Given the description of an element on the screen output the (x, y) to click on. 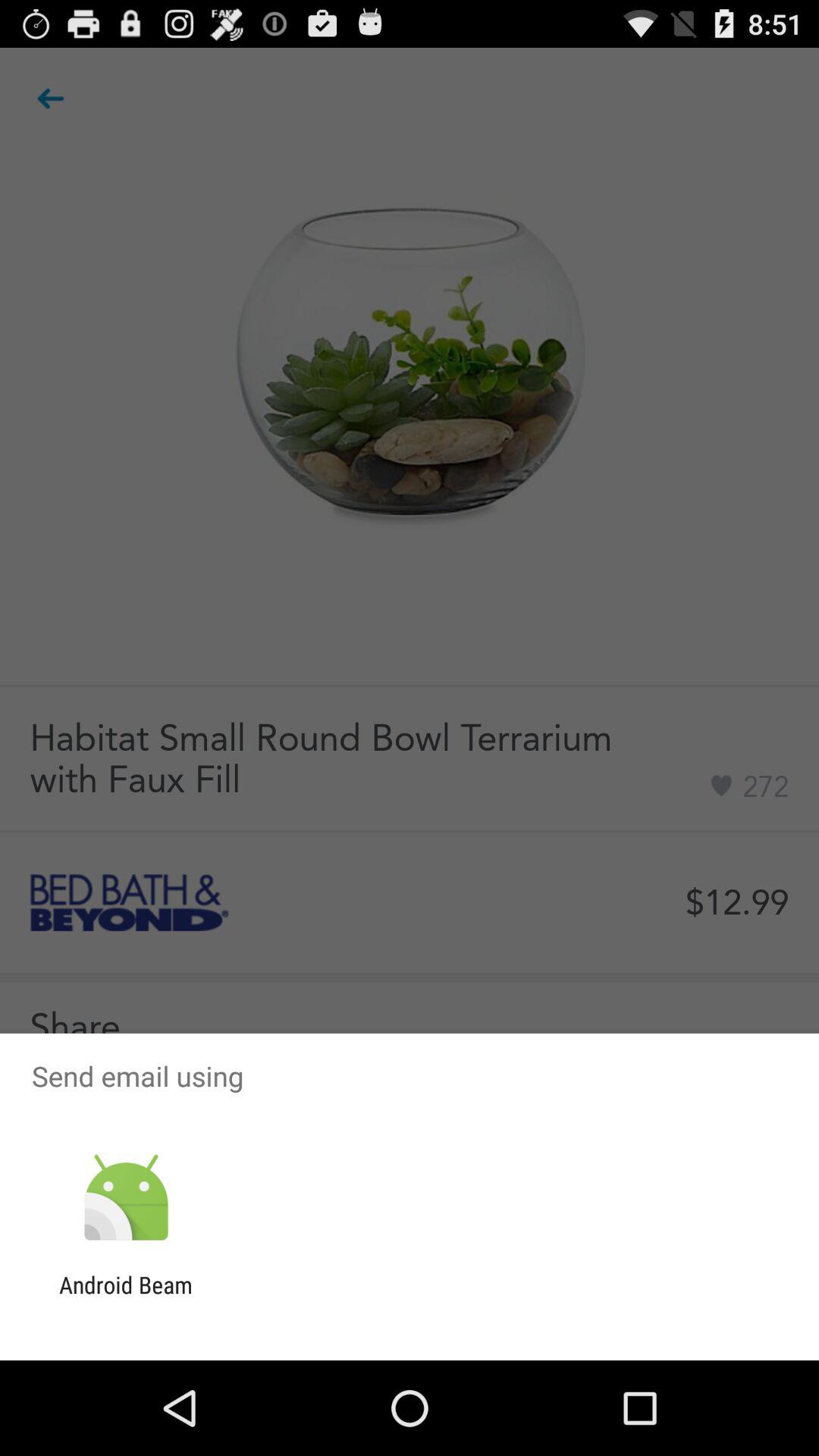
select android beam (125, 1298)
